Given the description of an element on the screen output the (x, y) to click on. 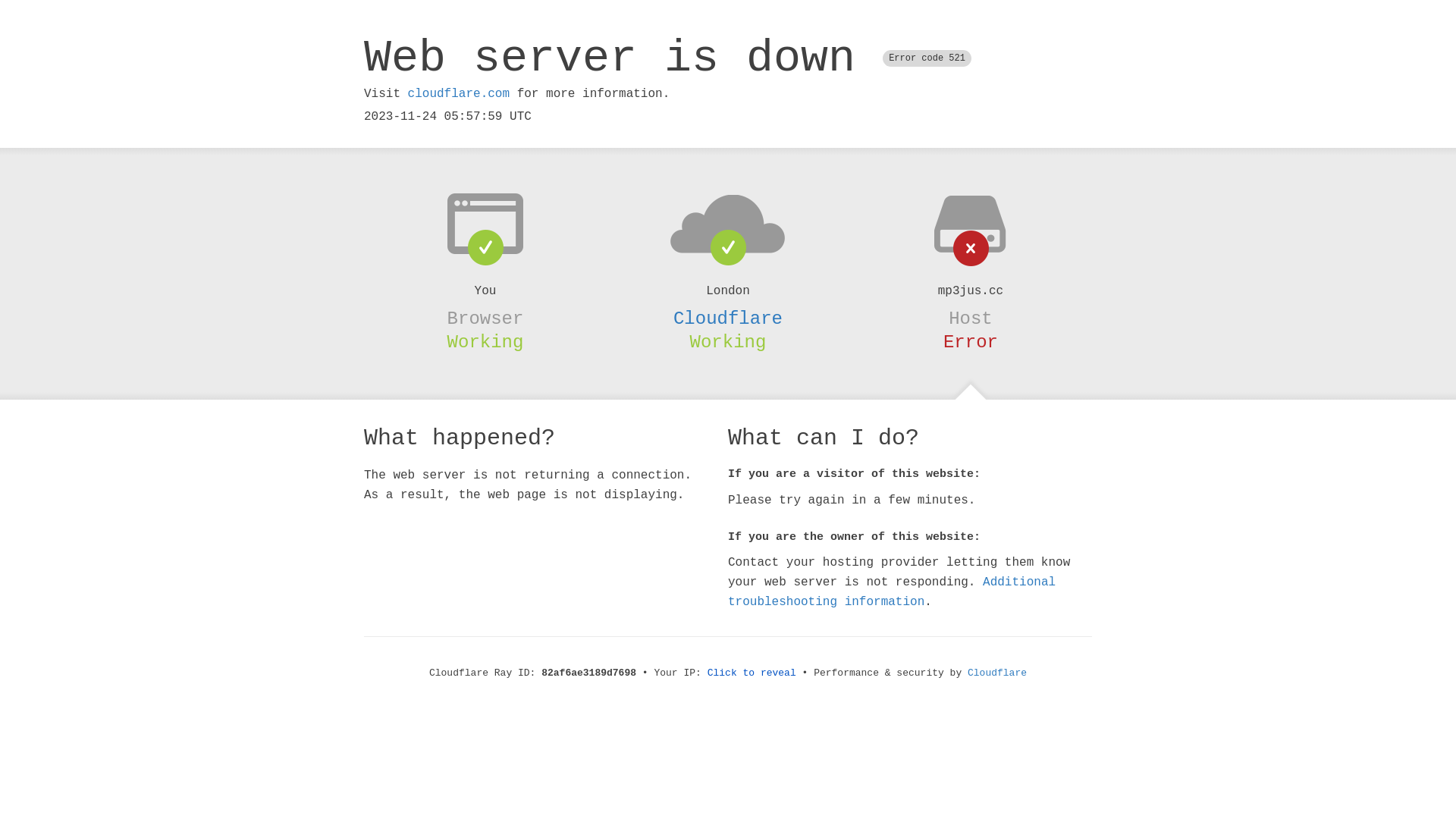
Cloudflare Element type: text (727, 318)
Additional troubleshooting information Element type: text (891, 591)
cloudflare.com Element type: text (458, 93)
Cloudflare Element type: text (996, 672)
Click to reveal Element type: text (751, 672)
